Given the description of an element on the screen output the (x, y) to click on. 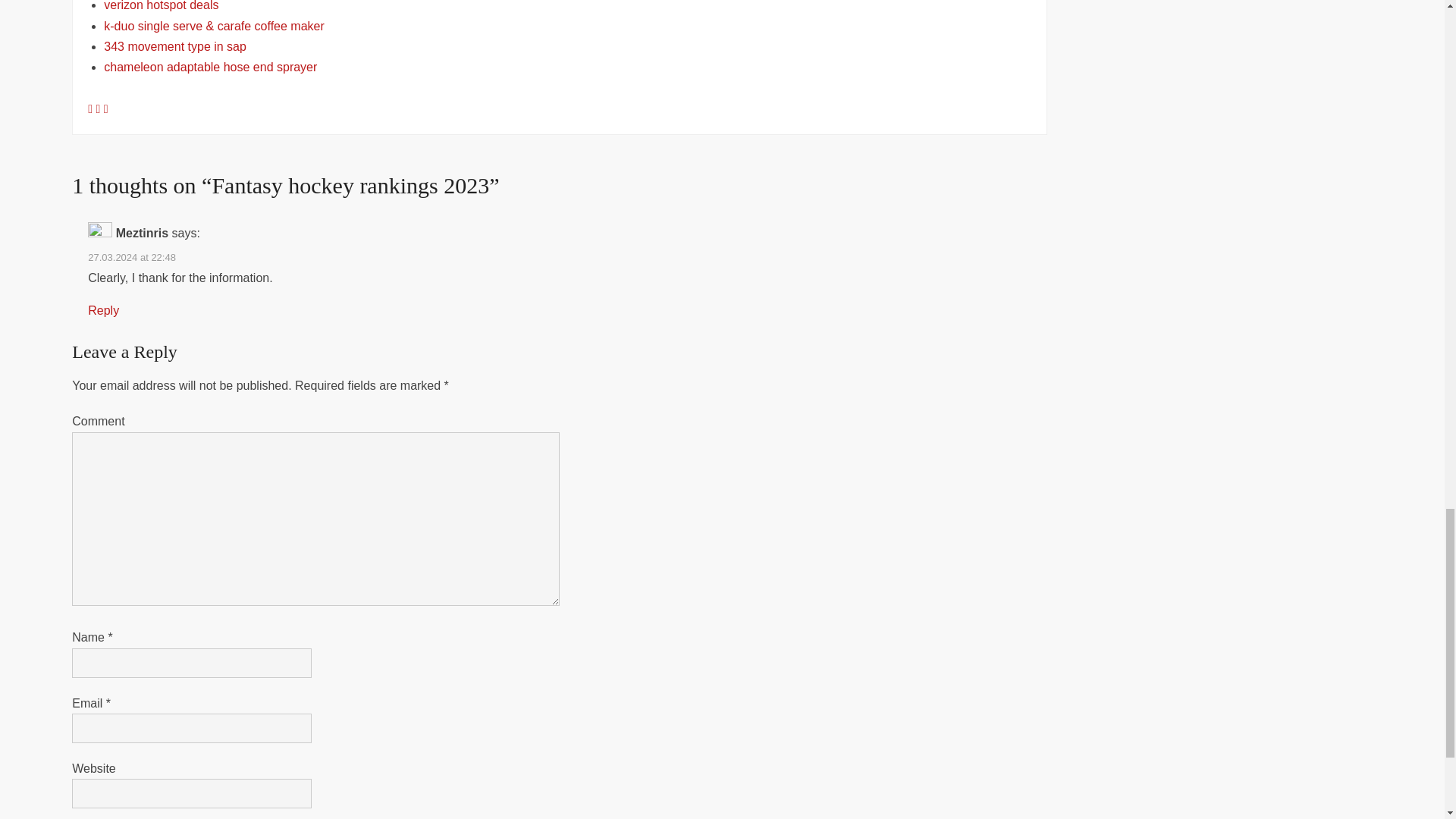
Reply (103, 309)
verizon hotspot deals (160, 5)
27.03.2024 at 22:48 (131, 256)
chameleon adaptable hose end sprayer (210, 66)
343 movement type in sap (174, 46)
